Given the description of an element on the screen output the (x, y) to click on. 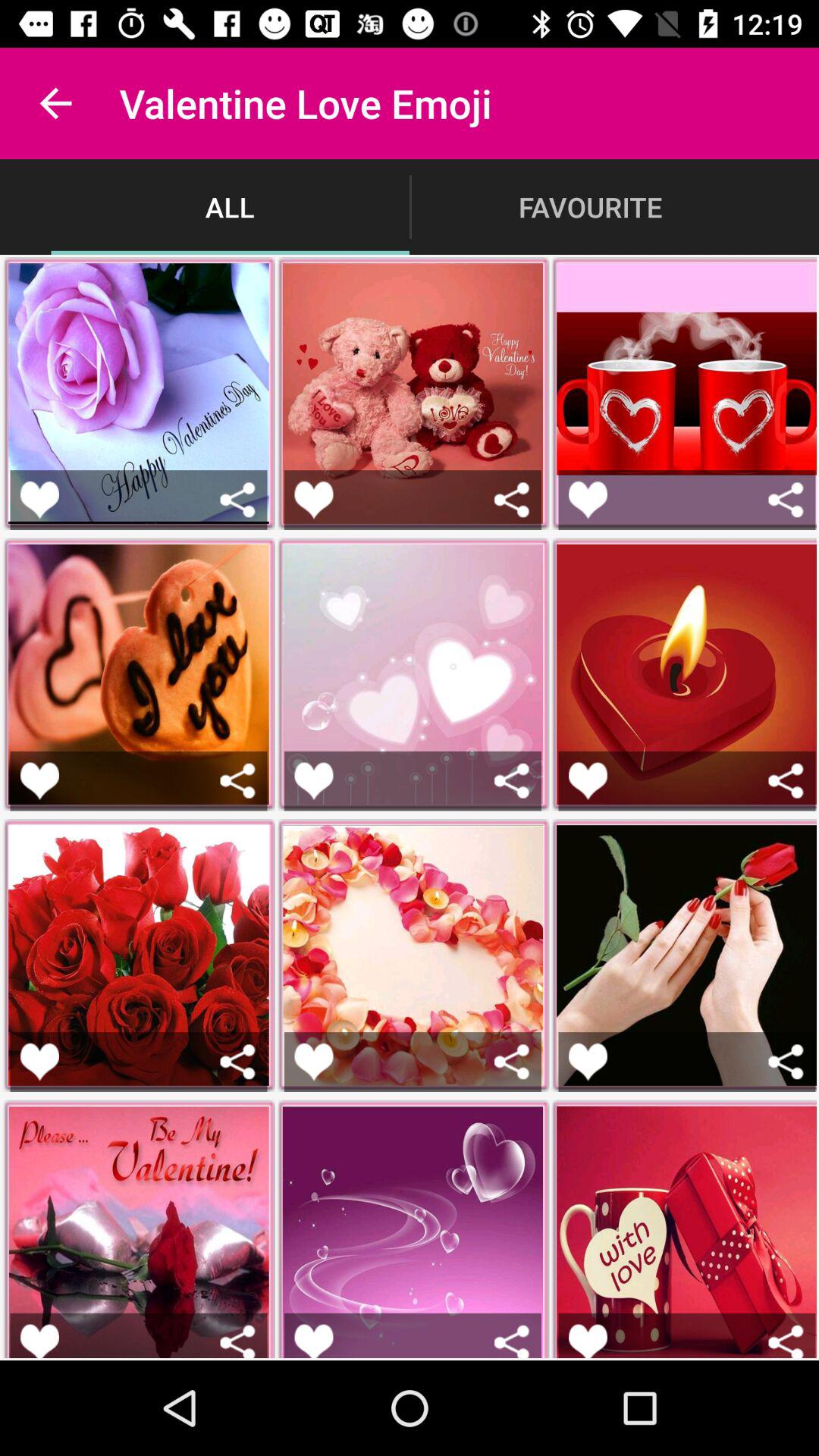
launch the item to the left of valentine love emoji app (55, 103)
